Given the description of an element on the screen output the (x, y) to click on. 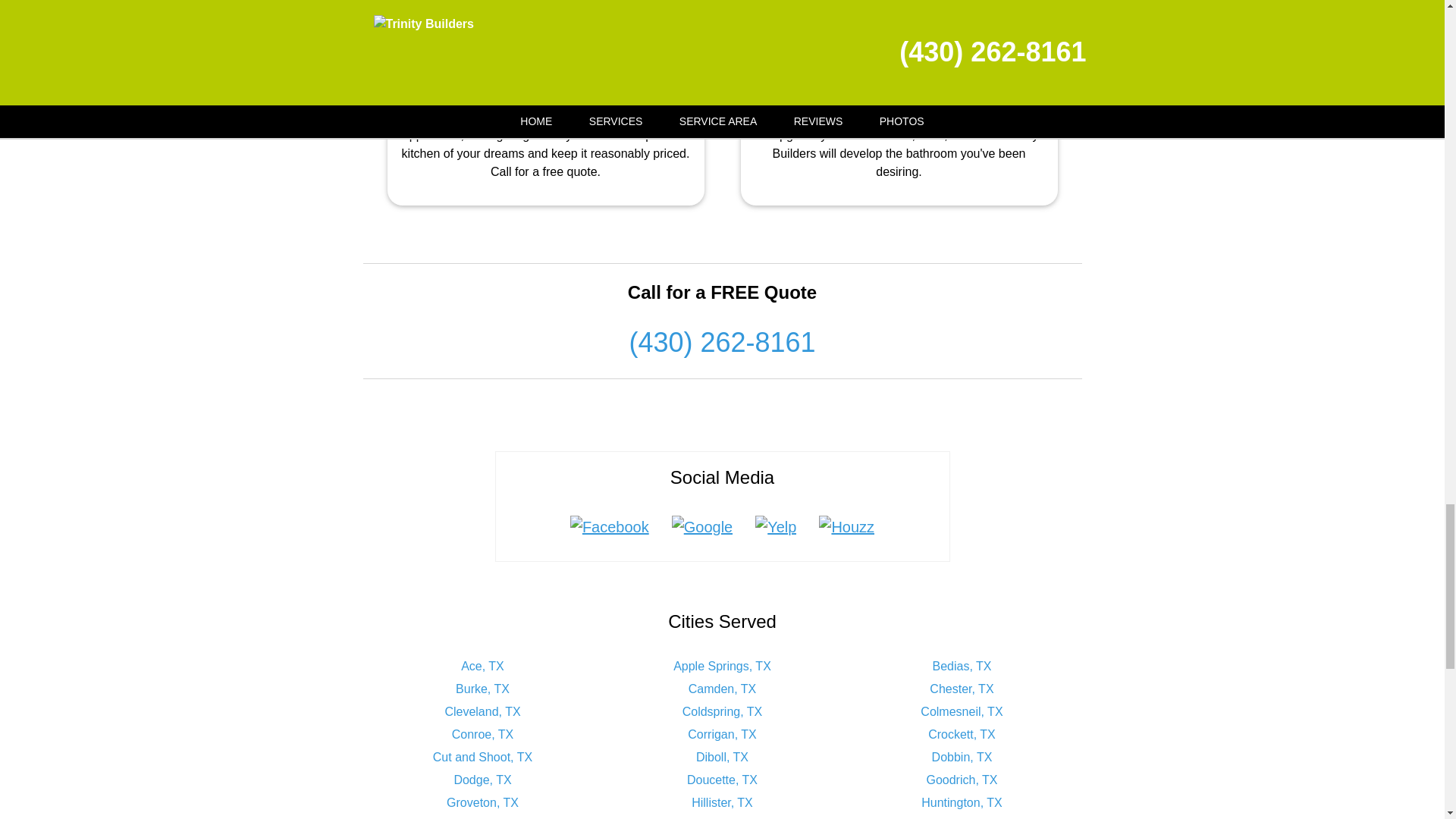
Apple Springs, TX (721, 666)
Kitchen Remodeling (545, 71)
Ace, TX (482, 666)
Google (702, 526)
Facebook (610, 526)
Yelp (776, 526)
Bathroom Remodeling (898, 71)
Houzz (846, 526)
